Given the description of an element on the screen output the (x, y) to click on. 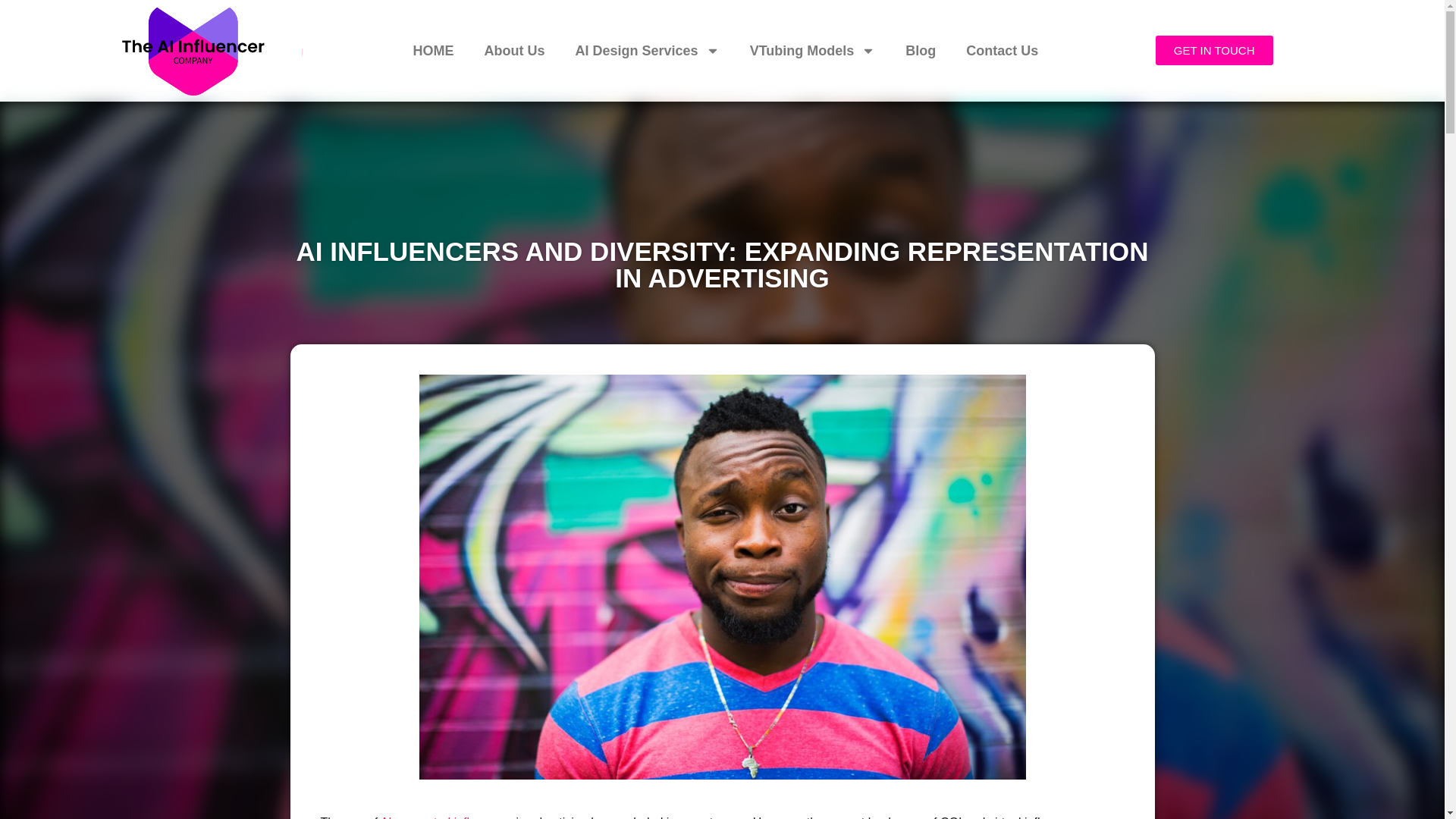
About Us (514, 50)
GET IN TOUCH (1214, 50)
VTubing Models (813, 50)
Blog (919, 50)
Contact Us (1001, 50)
AI-generated influencers (446, 817)
AI Design Services (647, 50)
HOME (432, 50)
